Given the description of an element on the screen output the (x, y) to click on. 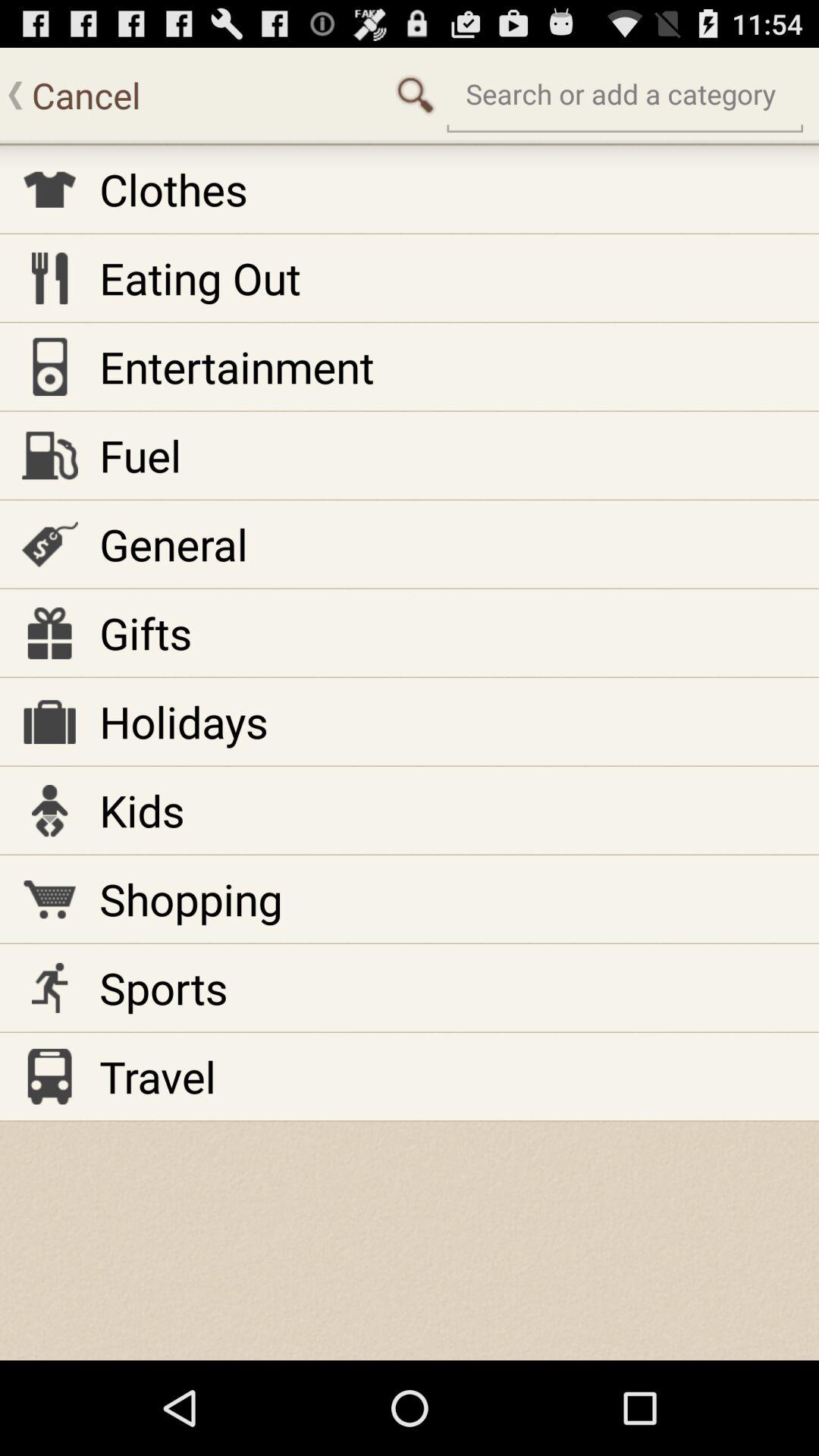
turn off eating out app (199, 277)
